Given the description of an element on the screen output the (x, y) to click on. 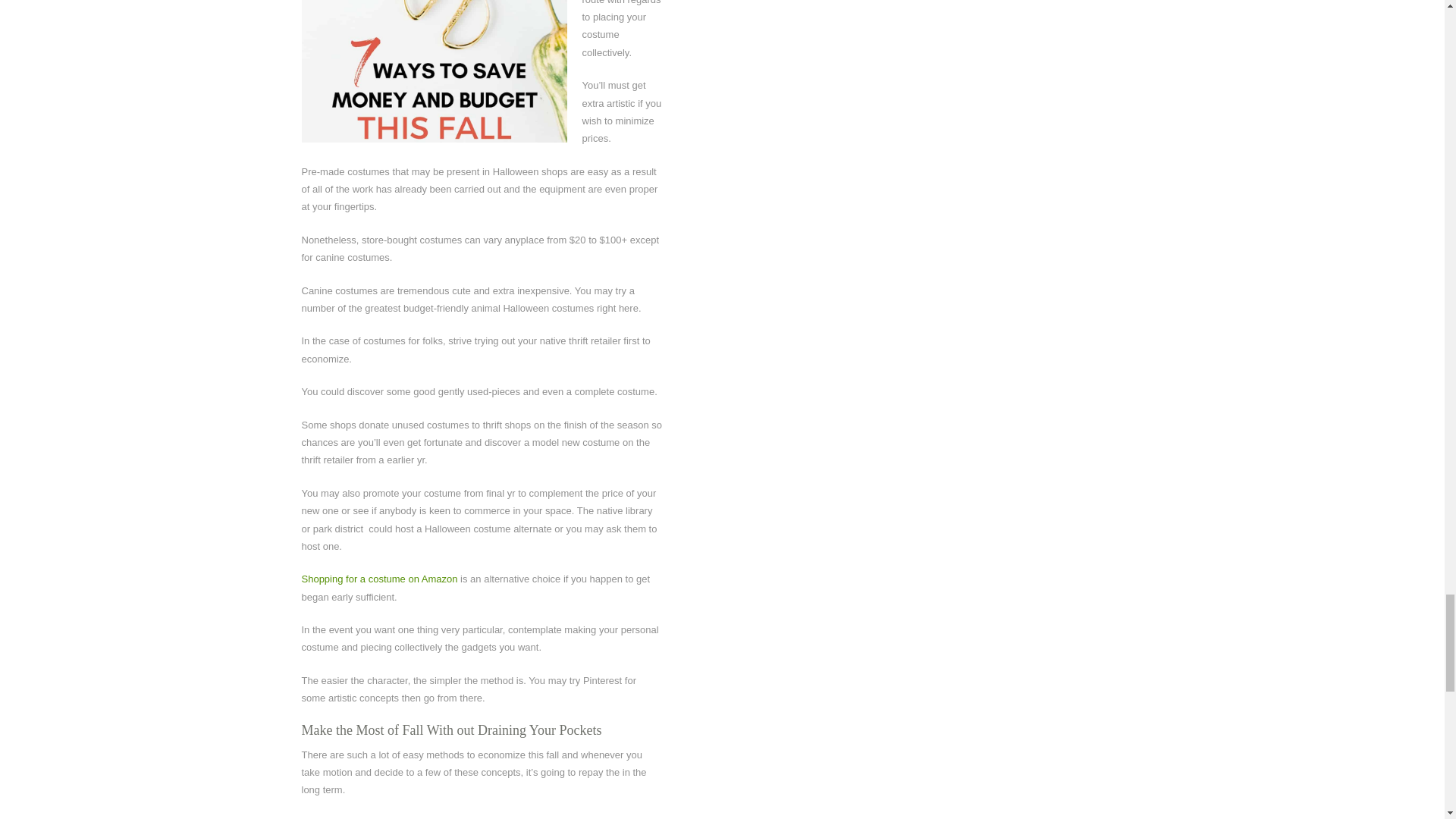
Shopping for a costume on Amazon (379, 578)
